Given the description of an element on the screen output the (x, y) to click on. 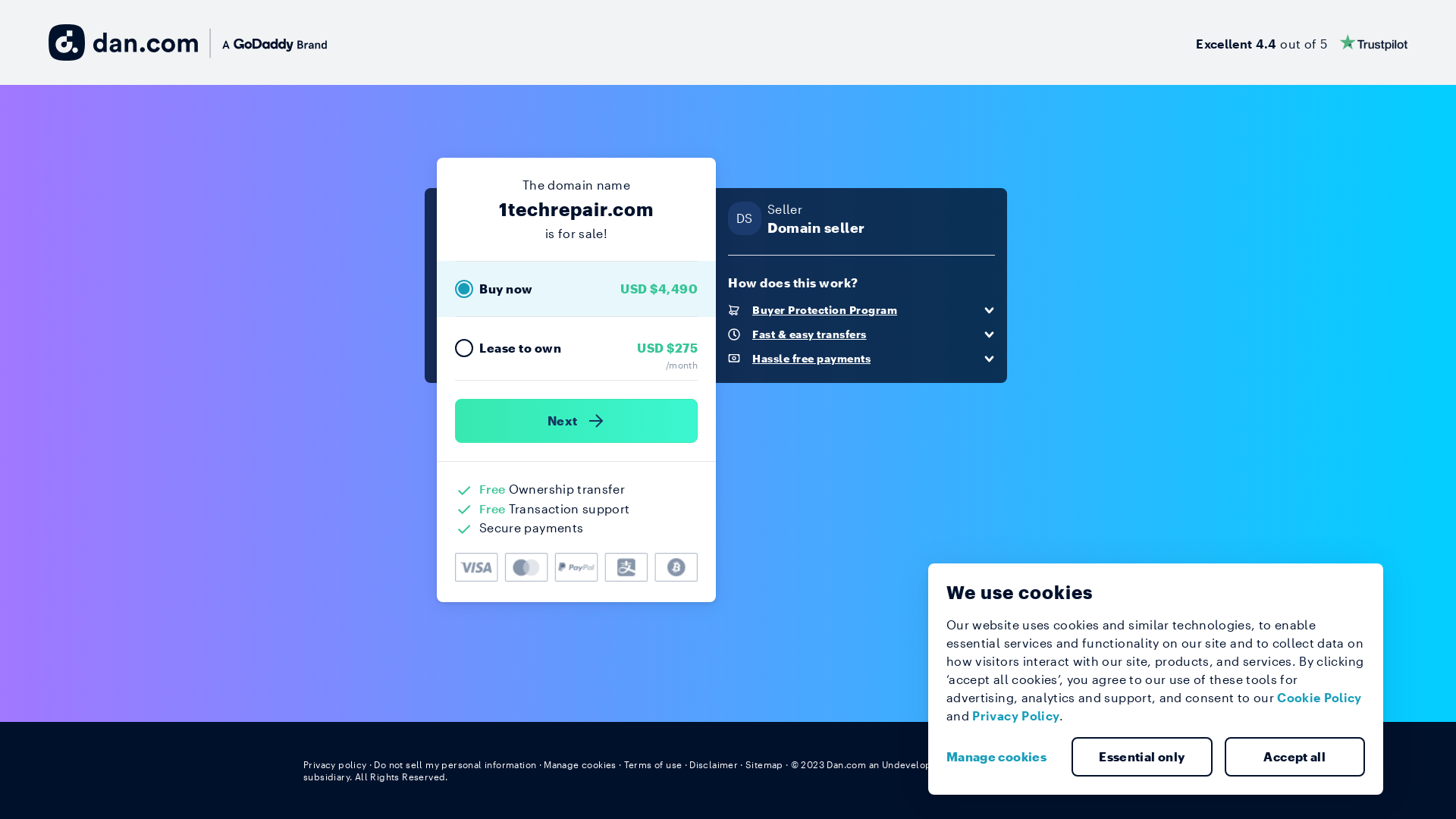
English Element type: text (1124, 764)
Excellent 4.4 out of 5 Element type: text (1301, 42)
Privacy policy Element type: text (335, 764)
Manage cookies Element type: text (579, 764)
Sitemap Element type: text (764, 764)
Terms of use Element type: text (653, 764)
Next
) Element type: text (576, 420)
Accept all Element type: text (1294, 756)
Cookie Policy Element type: text (1319, 697)
Essential only Element type: text (1141, 756)
Privacy Policy Element type: text (1015, 715)
Manage cookies Element type: text (1002, 756)
Disclaimer Element type: text (713, 764)
Do not sell my personal information Element type: text (454, 764)
